Given the description of an element on the screen output the (x, y) to click on. 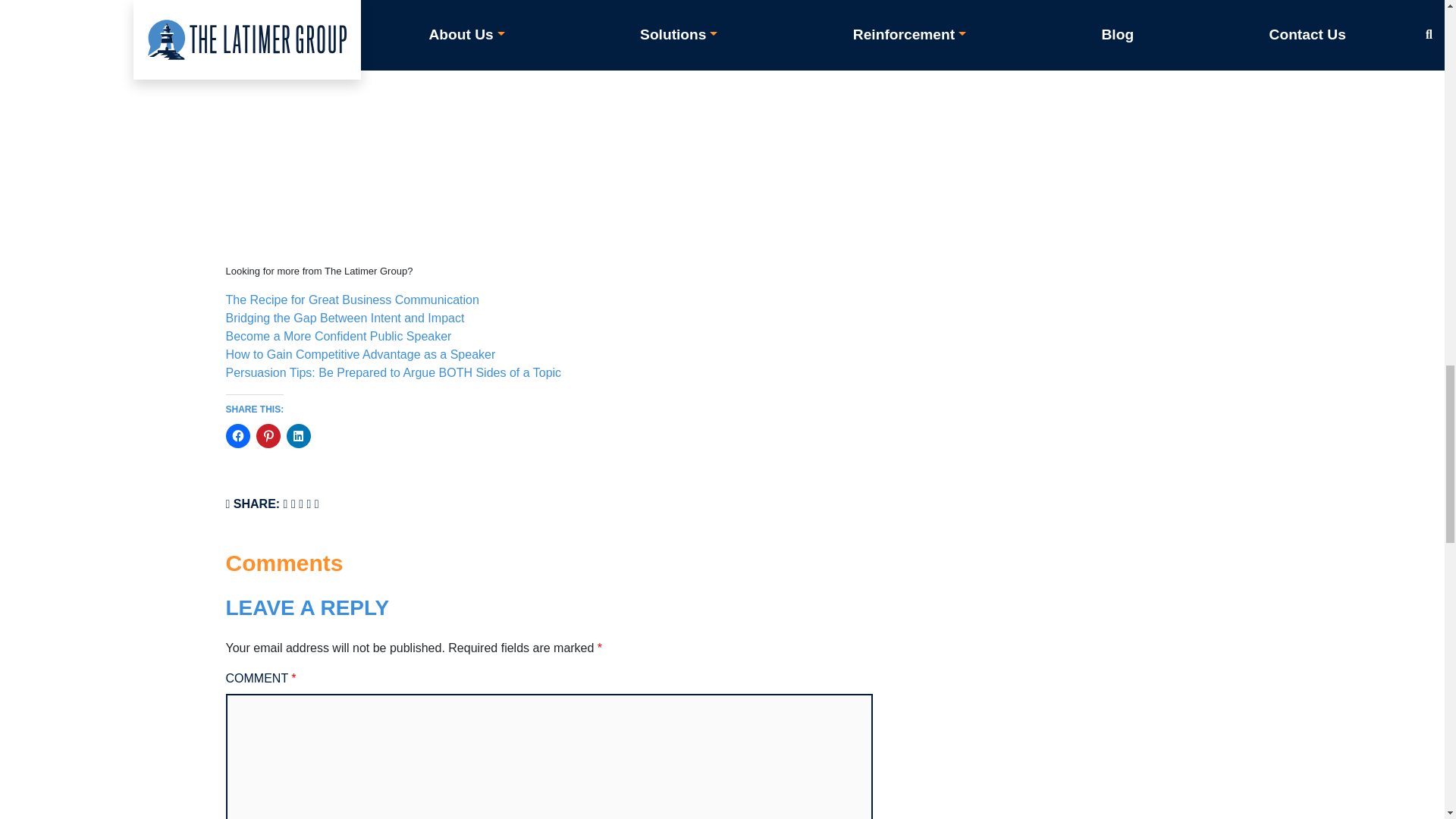
Click to share on Facebook (237, 435)
Click to share on LinkedIn (298, 435)
Click to share on Pinterest (268, 435)
Share on Twitter (293, 503)
Share on Pinterest (300, 503)
The Recipe for Great Business Communication (352, 299)
Share via Email (316, 503)
Share on Facebook (285, 503)
Share on LinkedIn (308, 503)
